Given the description of an element on the screen output the (x, y) to click on. 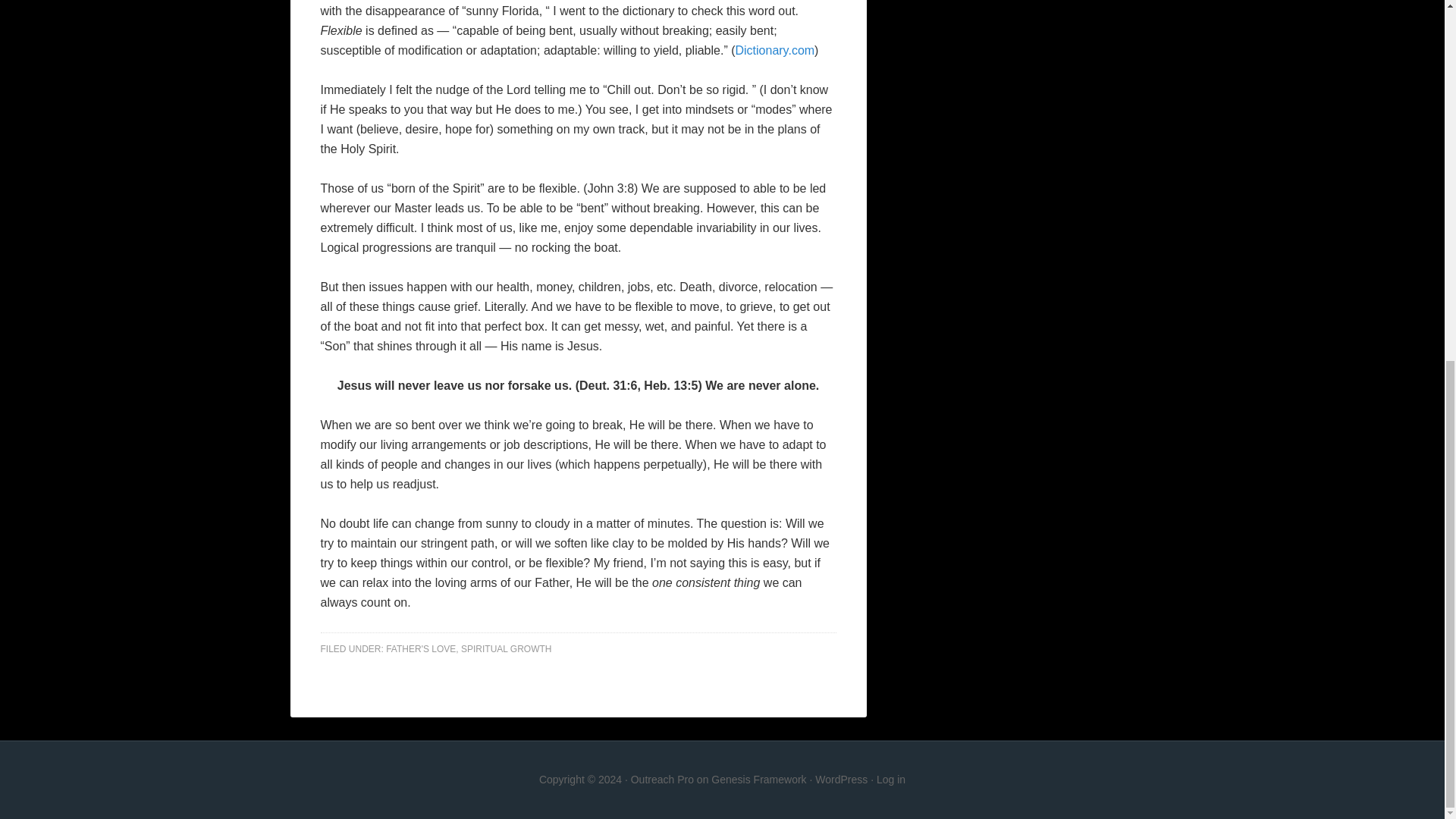
Log in (890, 779)
WordPress (841, 779)
FATHER'S LOVE (420, 648)
Genesis Framework (758, 779)
Dictionary.com (774, 49)
Outreach Pro (662, 779)
SPIRITUAL GROWTH (506, 648)
